Given the description of an element on the screen output the (x, y) to click on. 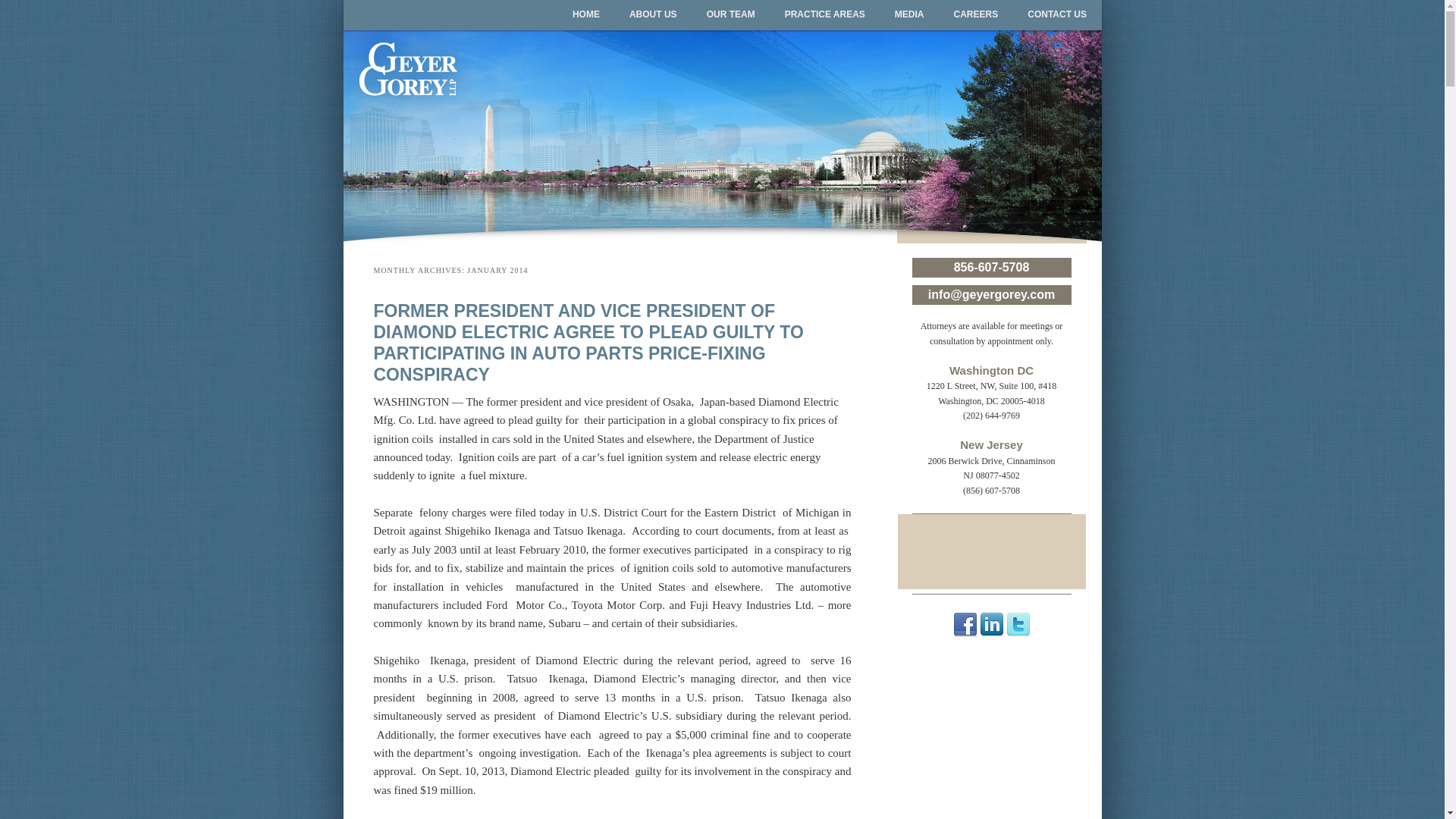
ABOUT US (652, 15)
Search (24, 8)
CAREERS (976, 15)
GeyerGorey LLP (485, 54)
CONTACT US (1057, 15)
PRACTICE AREAS (824, 15)
OUR TEAM (730, 15)
MEDIA (909, 15)
HOME (585, 15)
GeyerGorey LLP (485, 54)
